Given the description of an element on the screen output the (x, y) to click on. 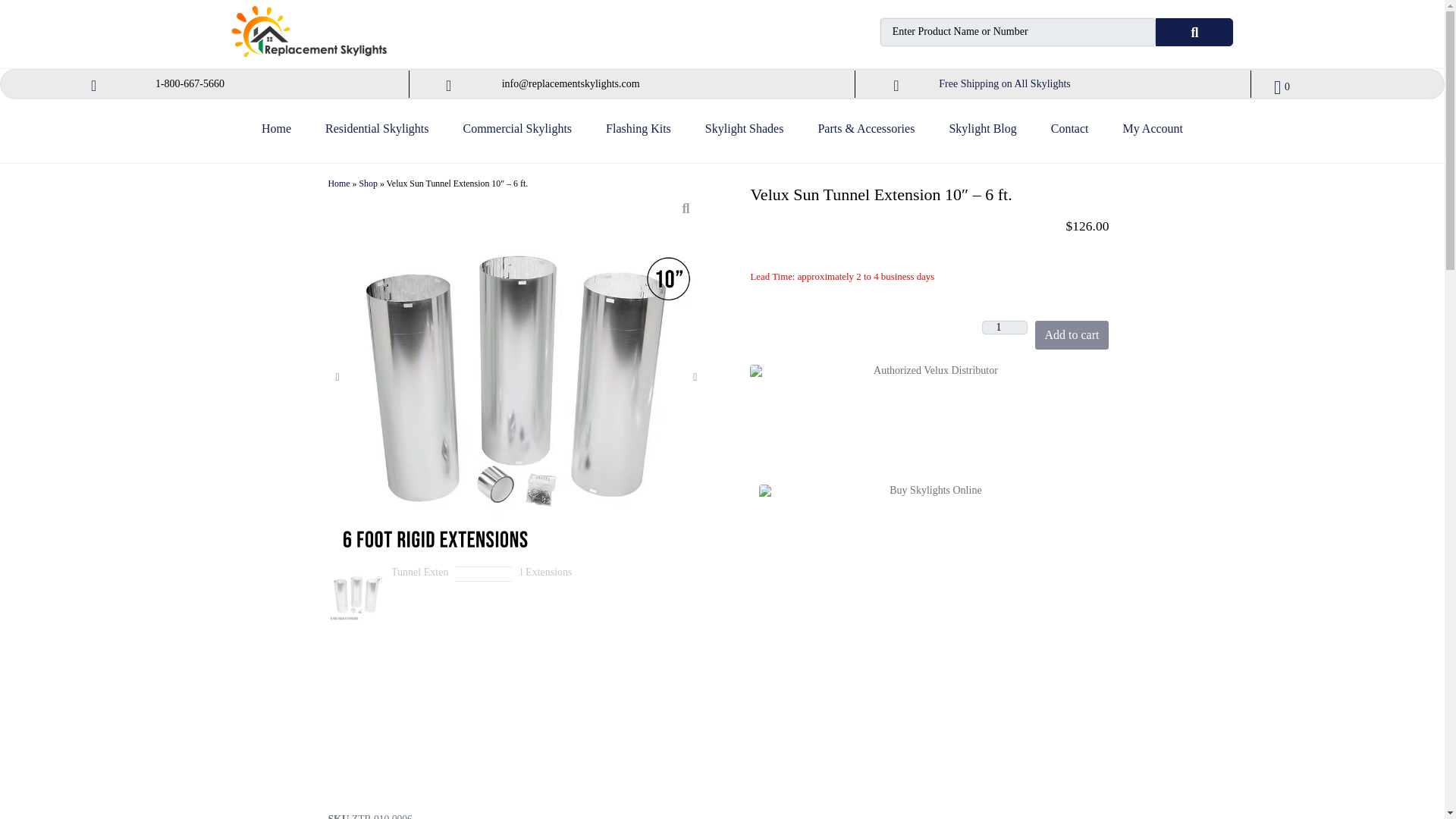
Commercial Skylights (517, 135)
1 (1003, 327)
Velux Rigid Sun Tunnel Extension Tube (547, 679)
Velux Sun Tunnel Extensions ZTR 010 0006 (355, 594)
Residential Skylights (376, 135)
Velux Rigid 6 Foot Extension Tube (419, 679)
1-800-667-5660 (189, 83)
Home (276, 135)
Velux ZTR Rigid Extension for Sun Tunnels (484, 679)
